Given the description of an element on the screen output the (x, y) to click on. 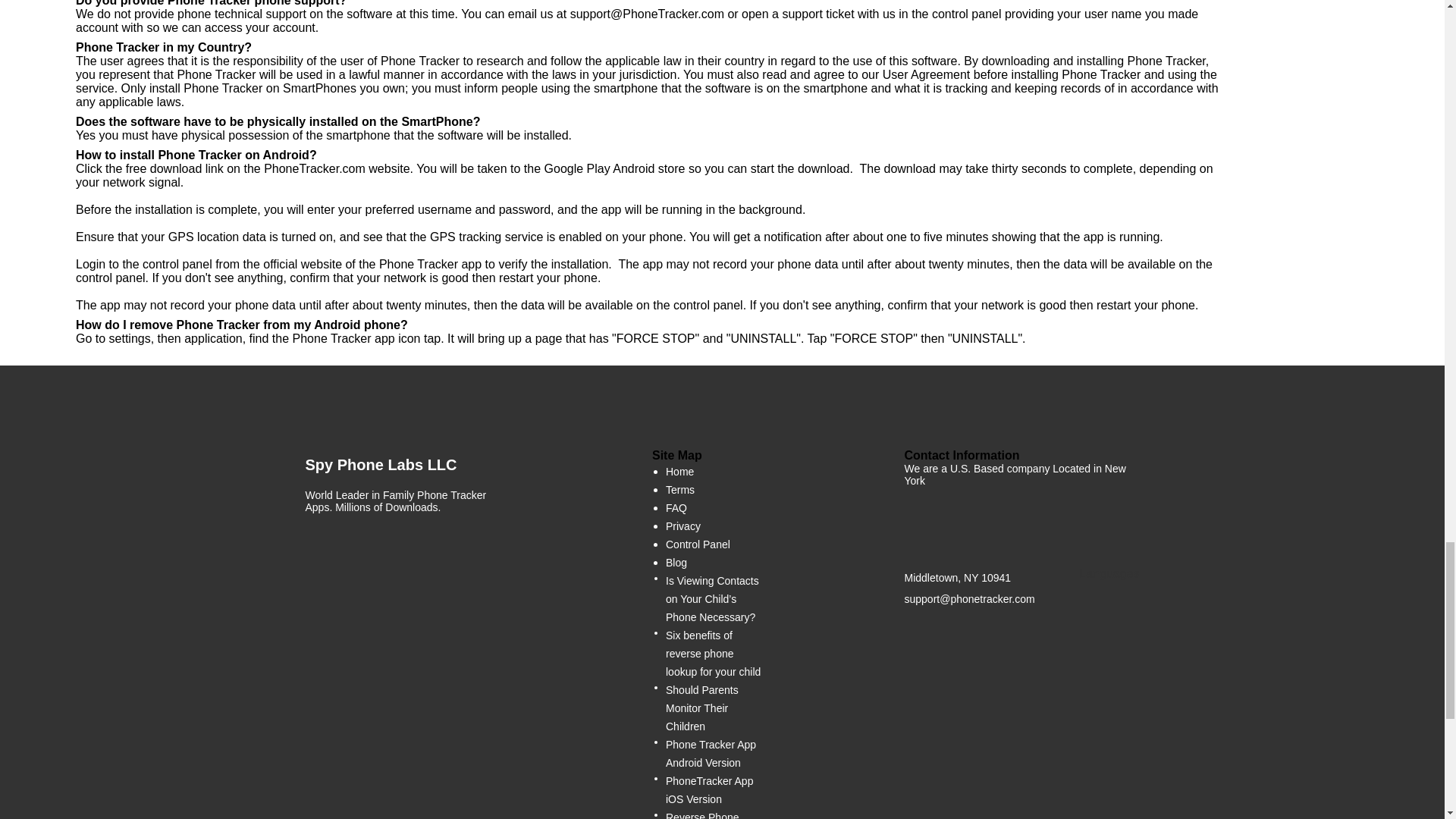
Terms (679, 489)
Control Panel (697, 544)
Six benefits of reverse phone lookup for your child (715, 653)
Languages (1108, 591)
PhoneTracker App iOS Version (715, 790)
Blog (676, 562)
Privacy (682, 525)
FAQ (676, 507)
Reverse Phone Lookup for Phonetracker (715, 813)
Phone Tracker App Android Version (715, 753)
Should Parents Monitor Their Children (715, 707)
Home (679, 471)
